Given the description of an element on the screen output the (x, y) to click on. 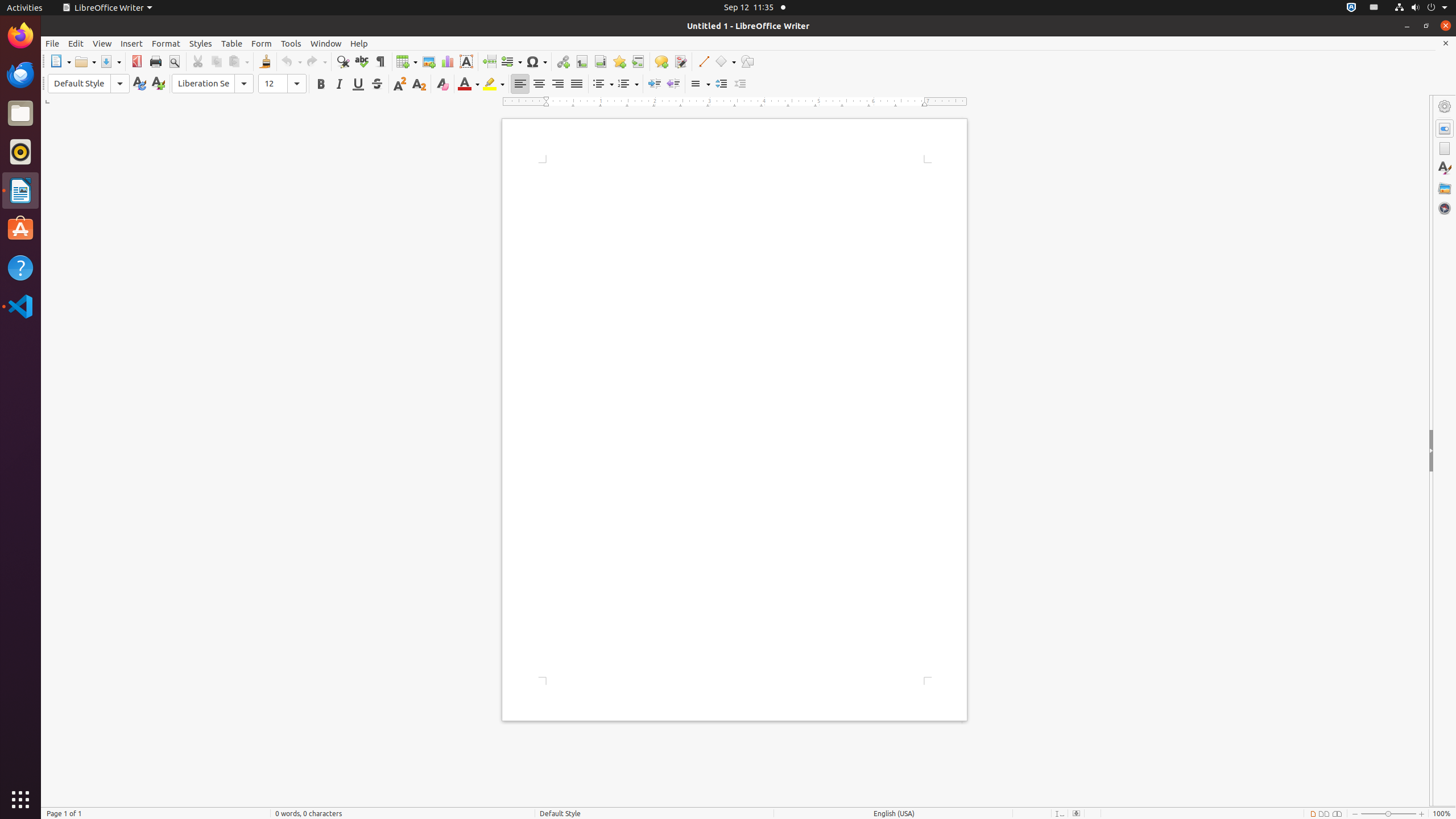
Format Element type: menu (165, 43)
Files Element type: push-button (20, 113)
Update Element type: push-button (138, 83)
Spelling Element type: push-button (361, 61)
Save Element type: push-button (109, 61)
